Given the description of an element on the screen output the (x, y) to click on. 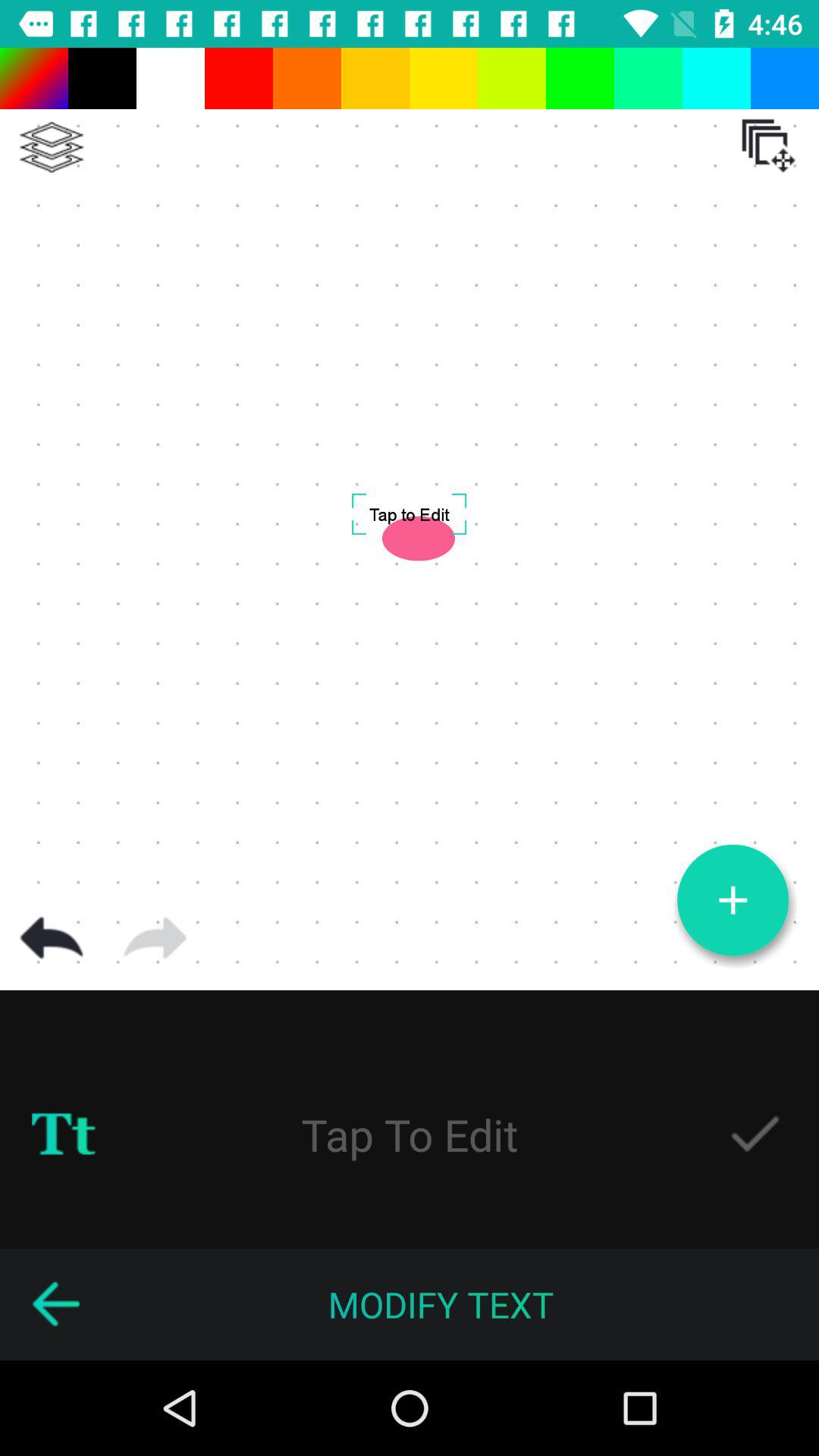
go back (51, 938)
